Given the description of an element on the screen output the (x, y) to click on. 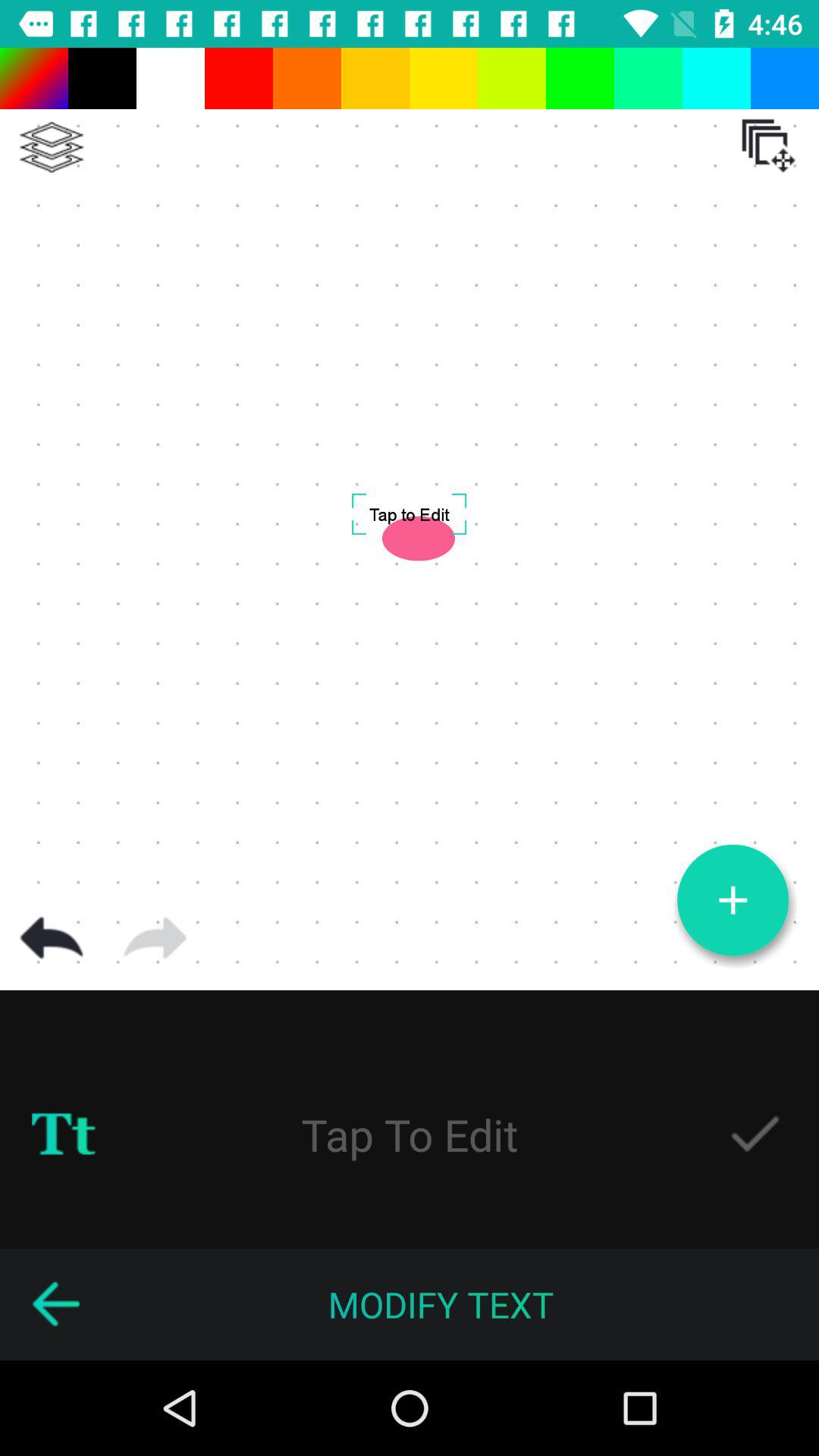
go back (51, 938)
